Given the description of an element on the screen output the (x, y) to click on. 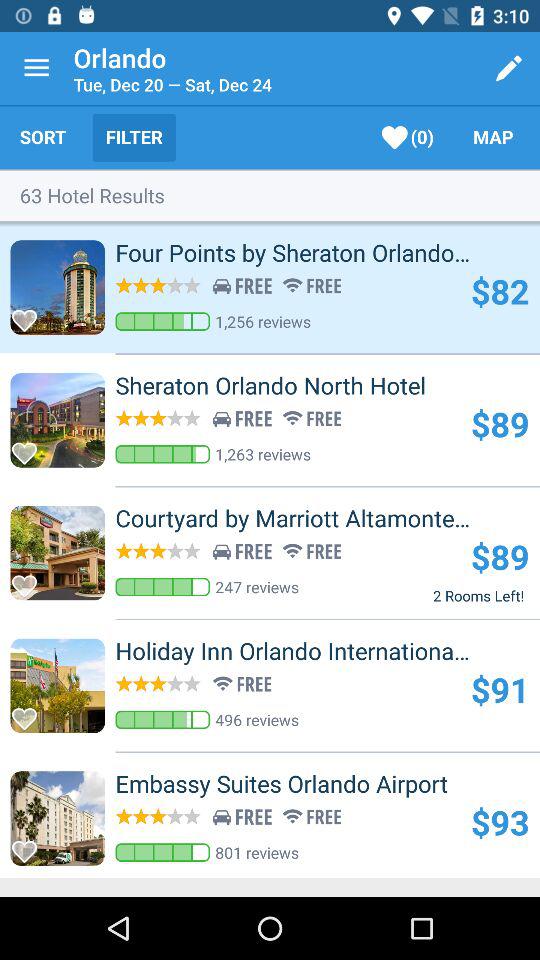
favorite (30, 845)
